Given the description of an element on the screen output the (x, y) to click on. 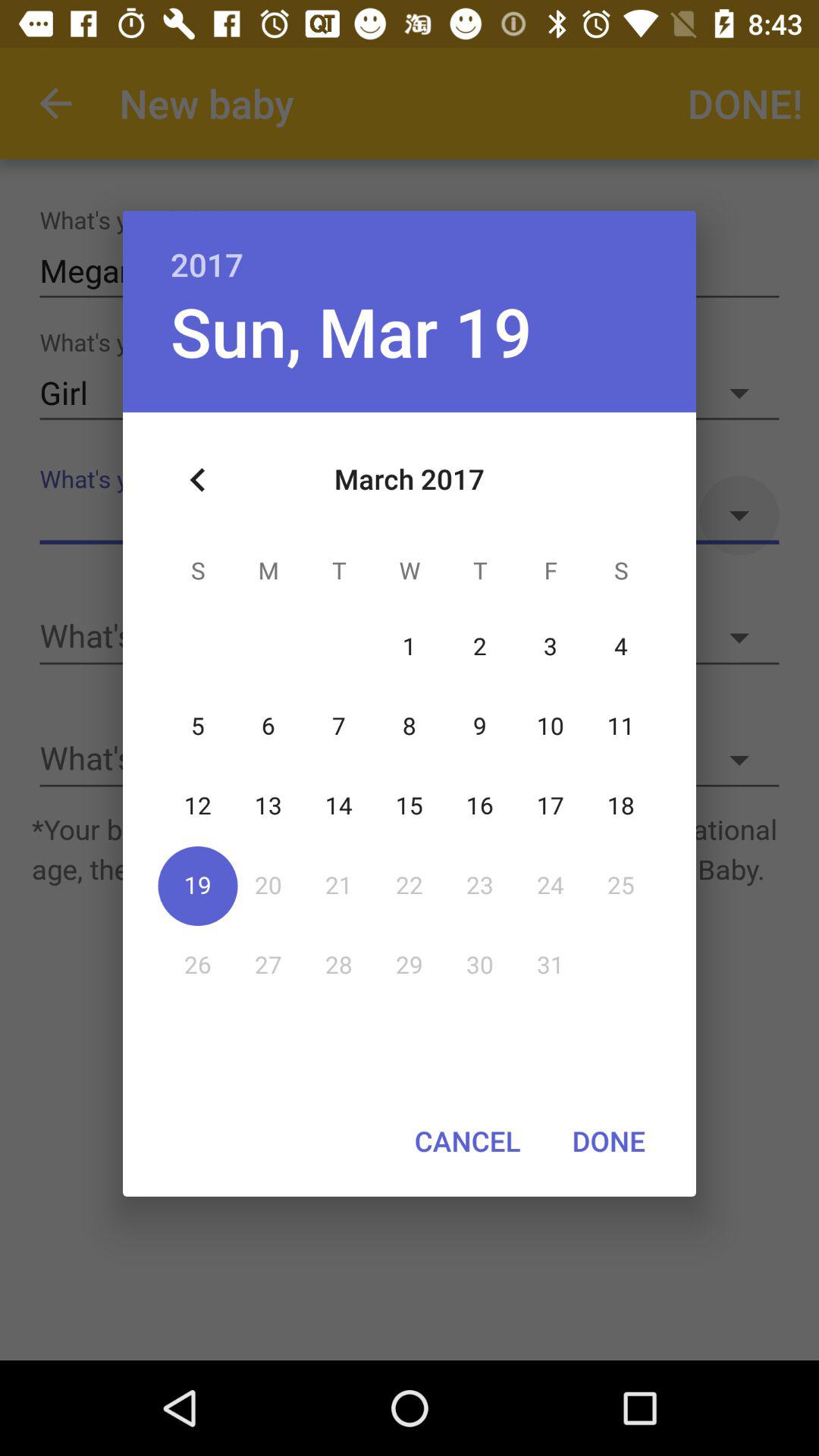
turn on item to the right of the cancel icon (608, 1140)
